Given the description of an element on the screen output the (x, y) to click on. 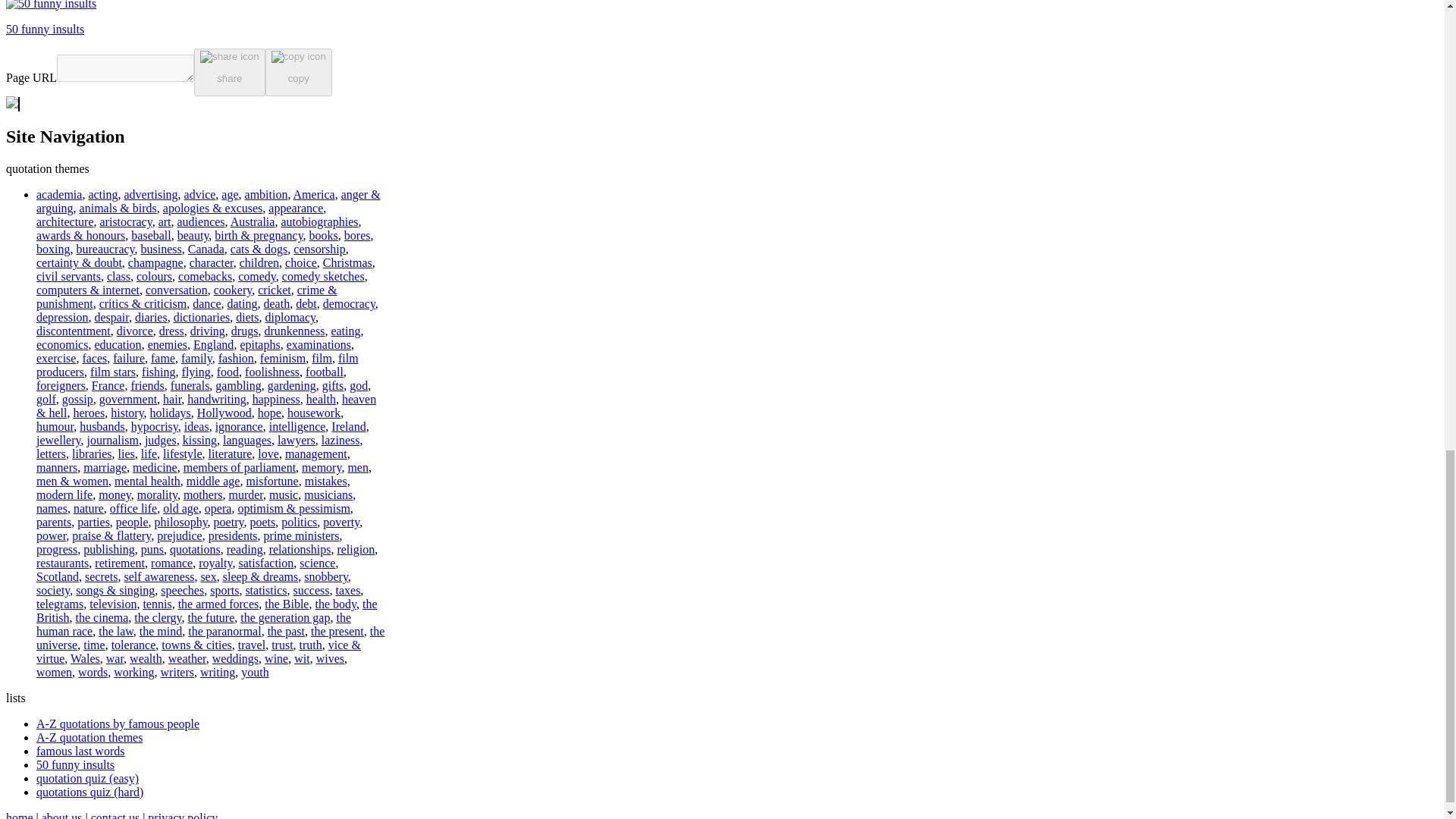
baseball (150, 235)
audiences (201, 221)
architecture (65, 221)
advice (199, 194)
acting (102, 194)
appearance (295, 207)
America (314, 194)
books (322, 235)
Australia (252, 221)
copy (297, 72)
